Given the description of an element on the screen output the (x, y) to click on. 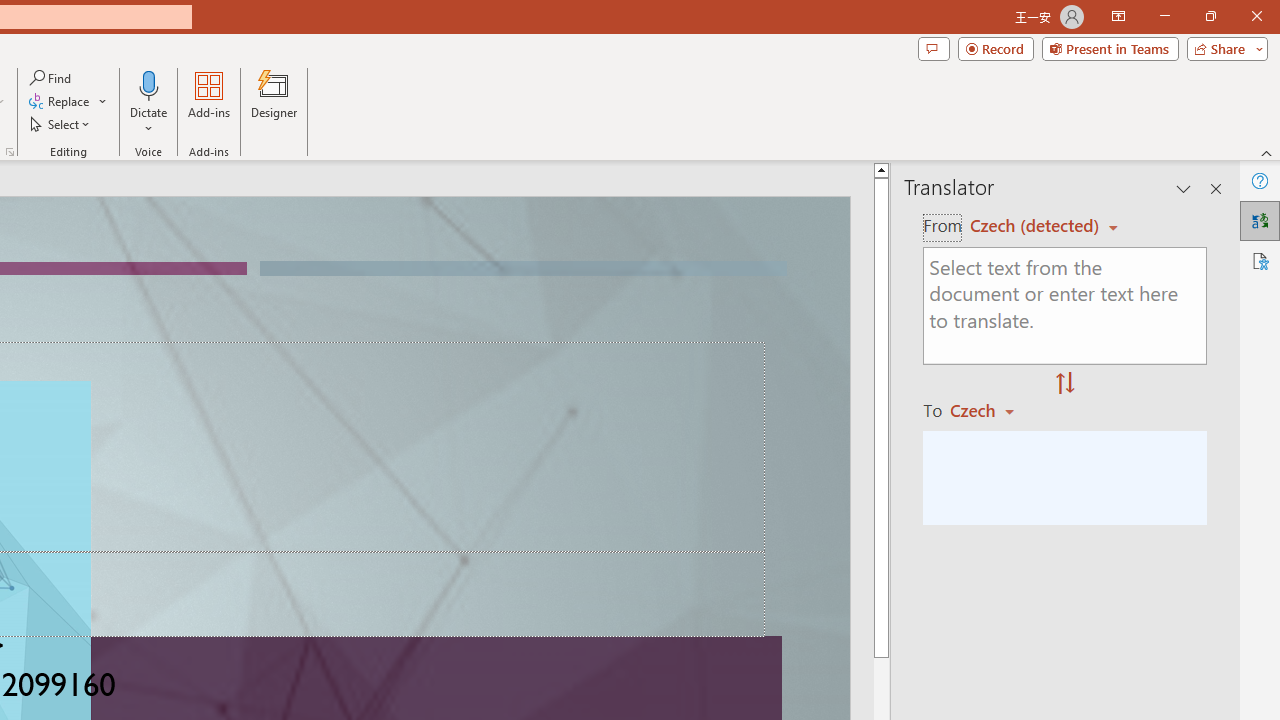
Czech (991, 409)
